Given the description of an element on the screen output the (x, y) to click on. 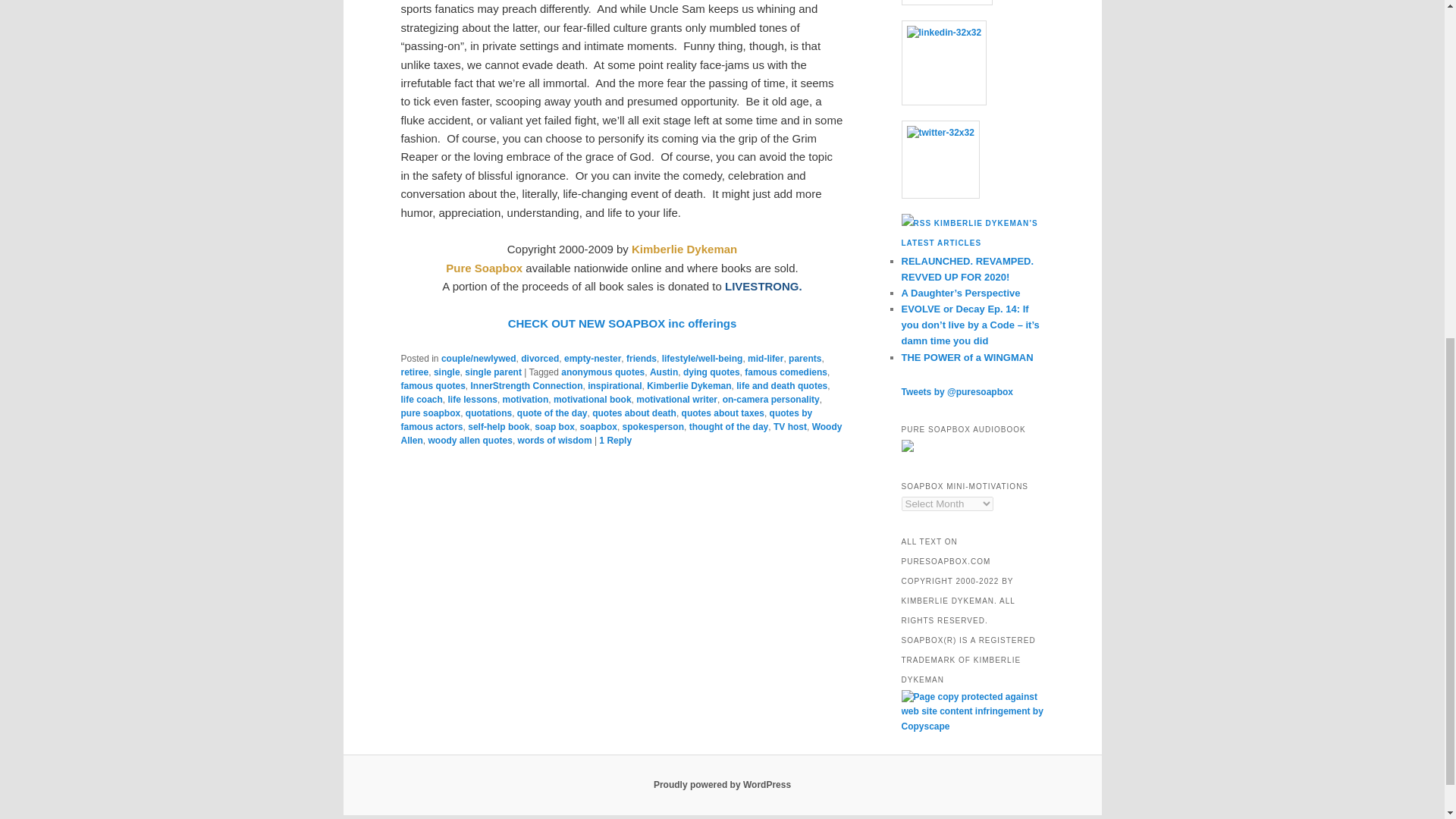
Pure Soapbox (483, 267)
motivation (525, 398)
parents (805, 357)
CHECK OUT NEW SOAPBOX inc offerings (622, 323)
linkedin-32x32 (944, 63)
dying quotes (710, 371)
inspirational (615, 385)
single parent (492, 371)
retiree (414, 371)
InnerStrength Connection (526, 385)
life and death quotes (781, 385)
famous quotes (432, 385)
motivational book (592, 398)
life coach (421, 398)
